Given the description of an element on the screen output the (x, y) to click on. 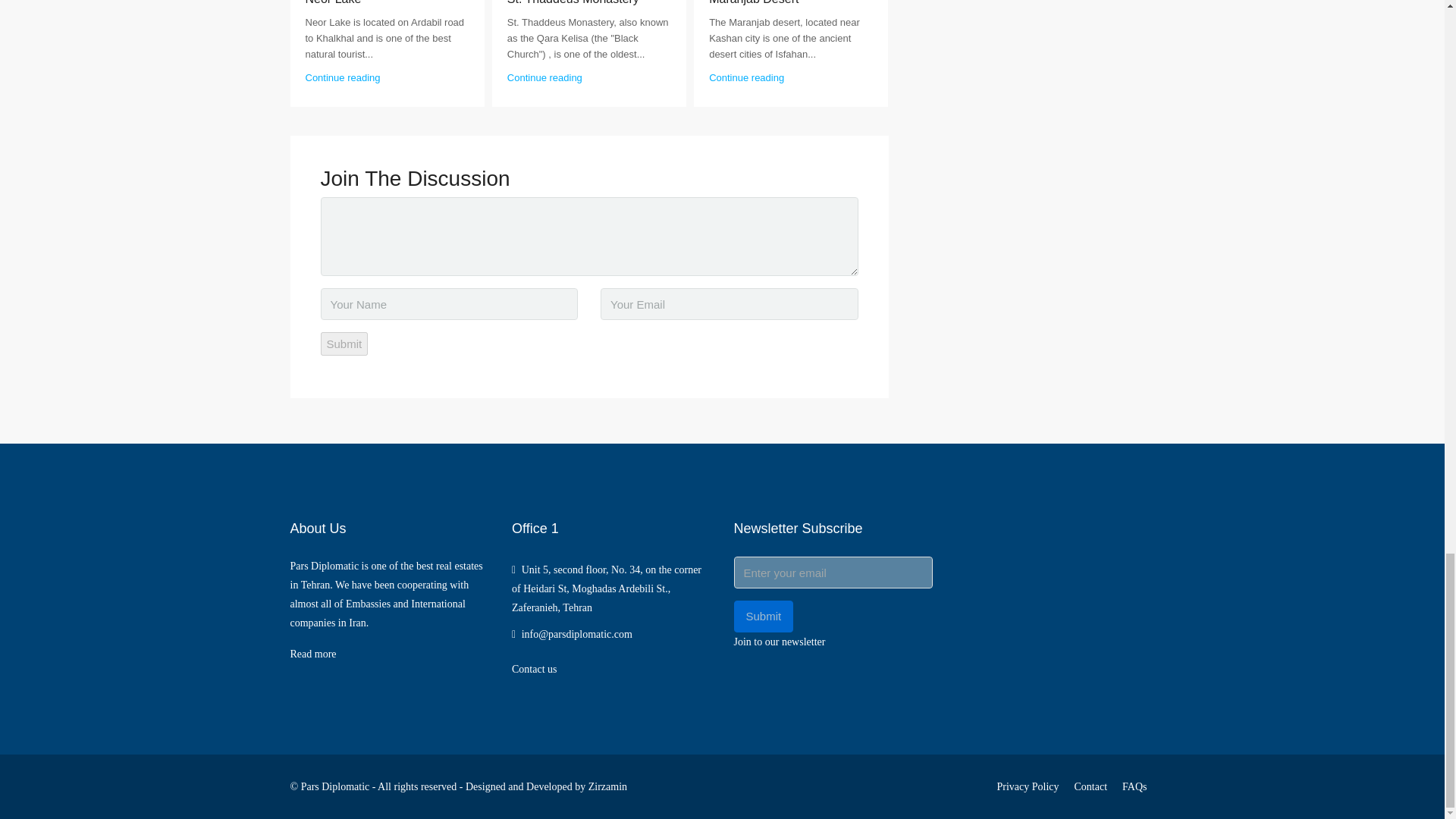
Submit (344, 343)
